Given the description of an element on the screen output the (x, y) to click on. 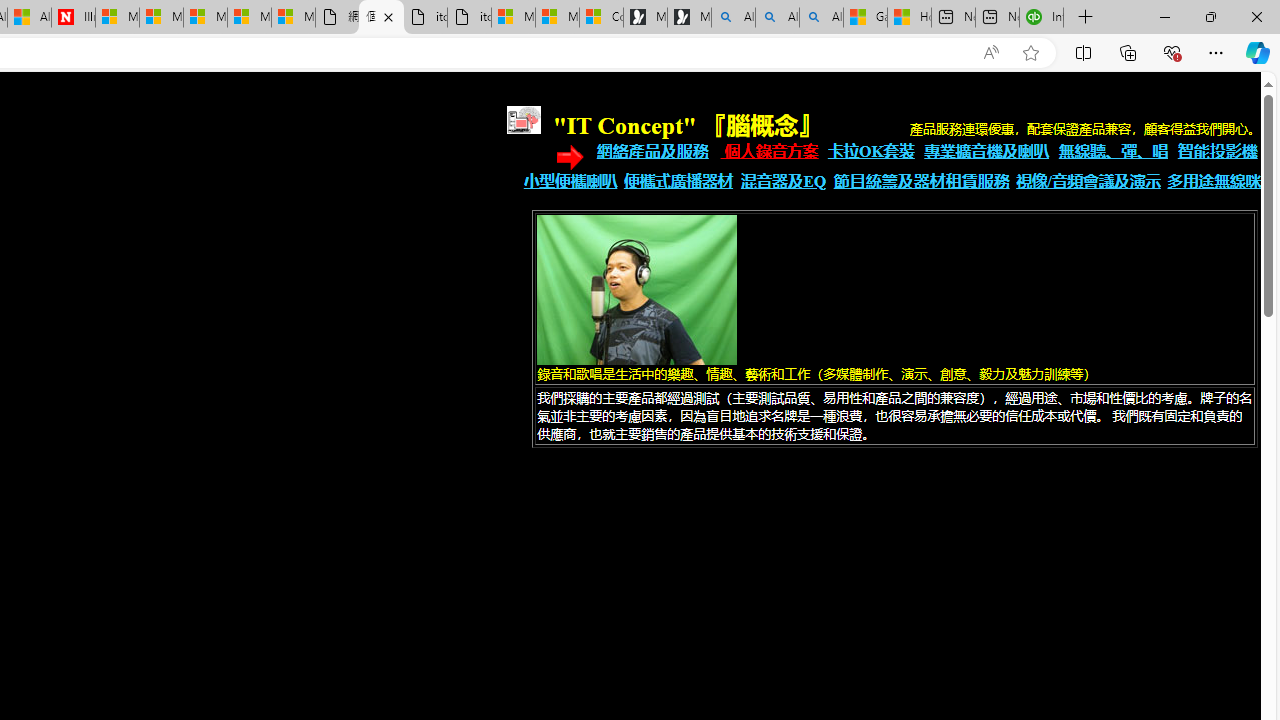
Illness news & latest pictures from Newsweek.com (73, 17)
Intuit QuickBooks Online - Quickbooks (1041, 17)
